Given the description of an element on the screen output the (x, y) to click on. 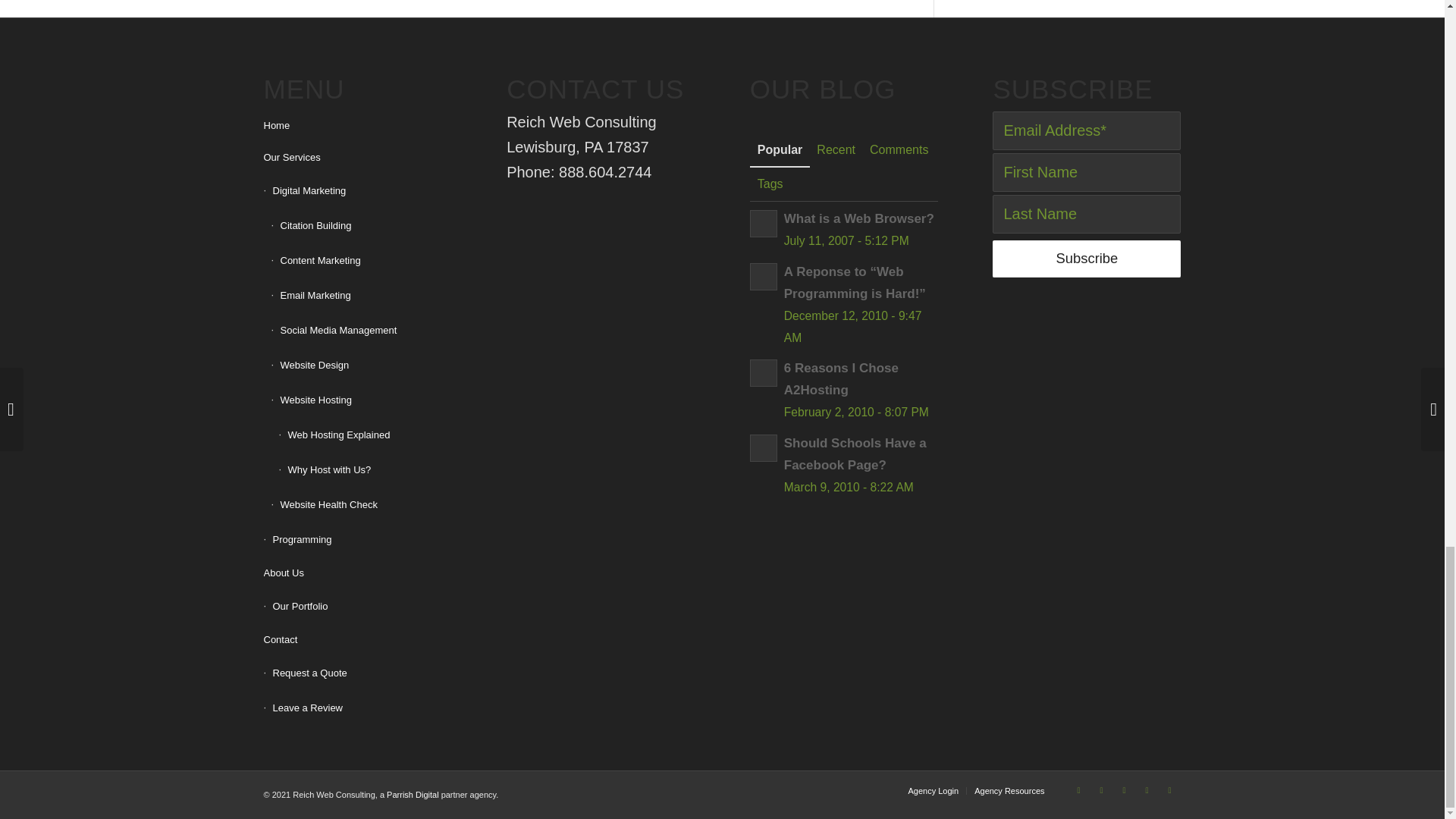
Subscribe (1086, 258)
